Given the description of an element on the screen output the (x, y) to click on. 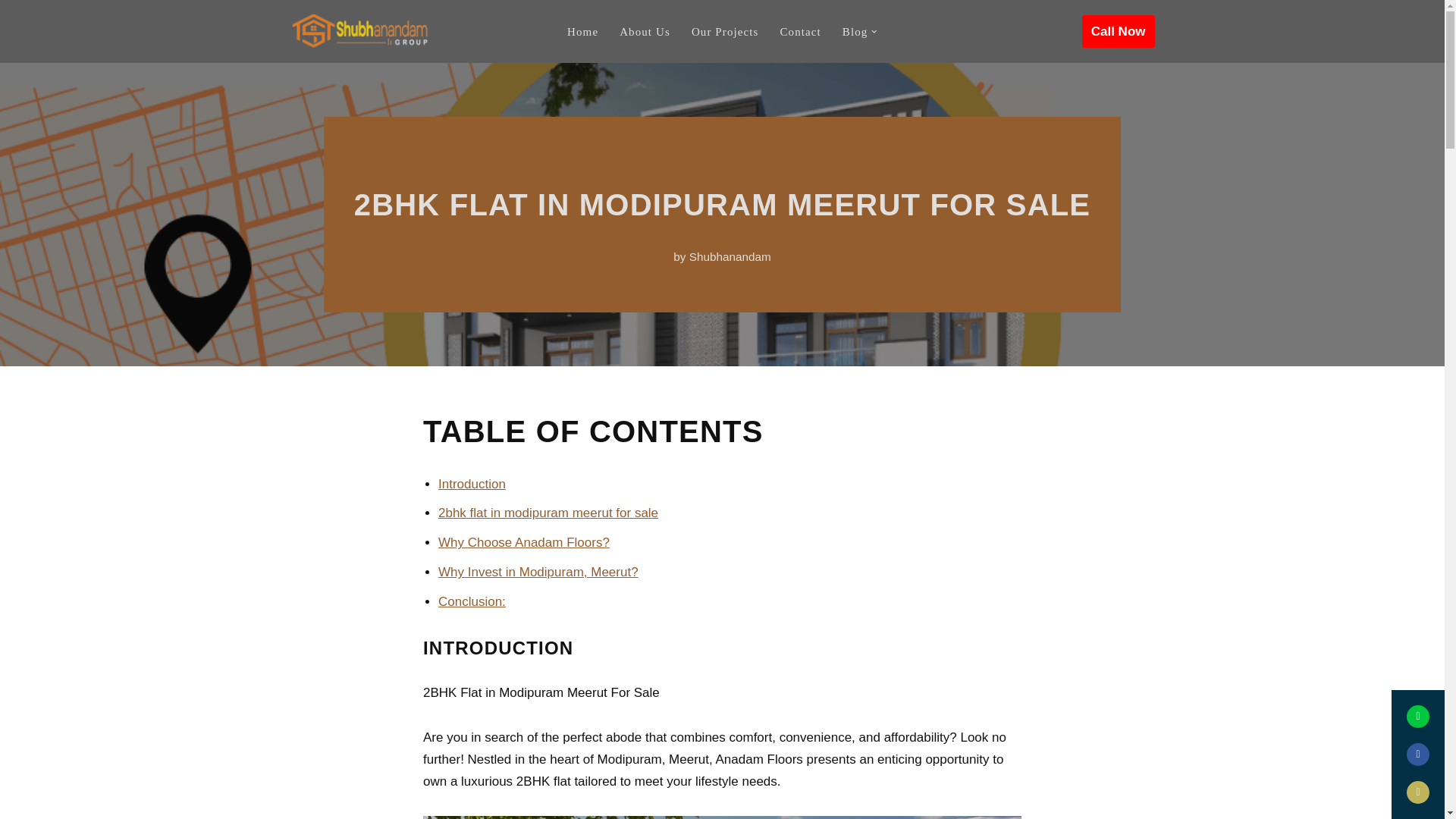
Shubhanandam (729, 256)
Introduction (471, 482)
About Us (644, 31)
Conclusion: (471, 601)
Why Invest in Modipuram, Meerut? (538, 572)
2bhk flat in modipuram meerut for sale (548, 513)
Call Now (1117, 31)
Our Projects (724, 31)
Contact (799, 31)
Blog (855, 31)
